Given the description of an element on the screen output the (x, y) to click on. 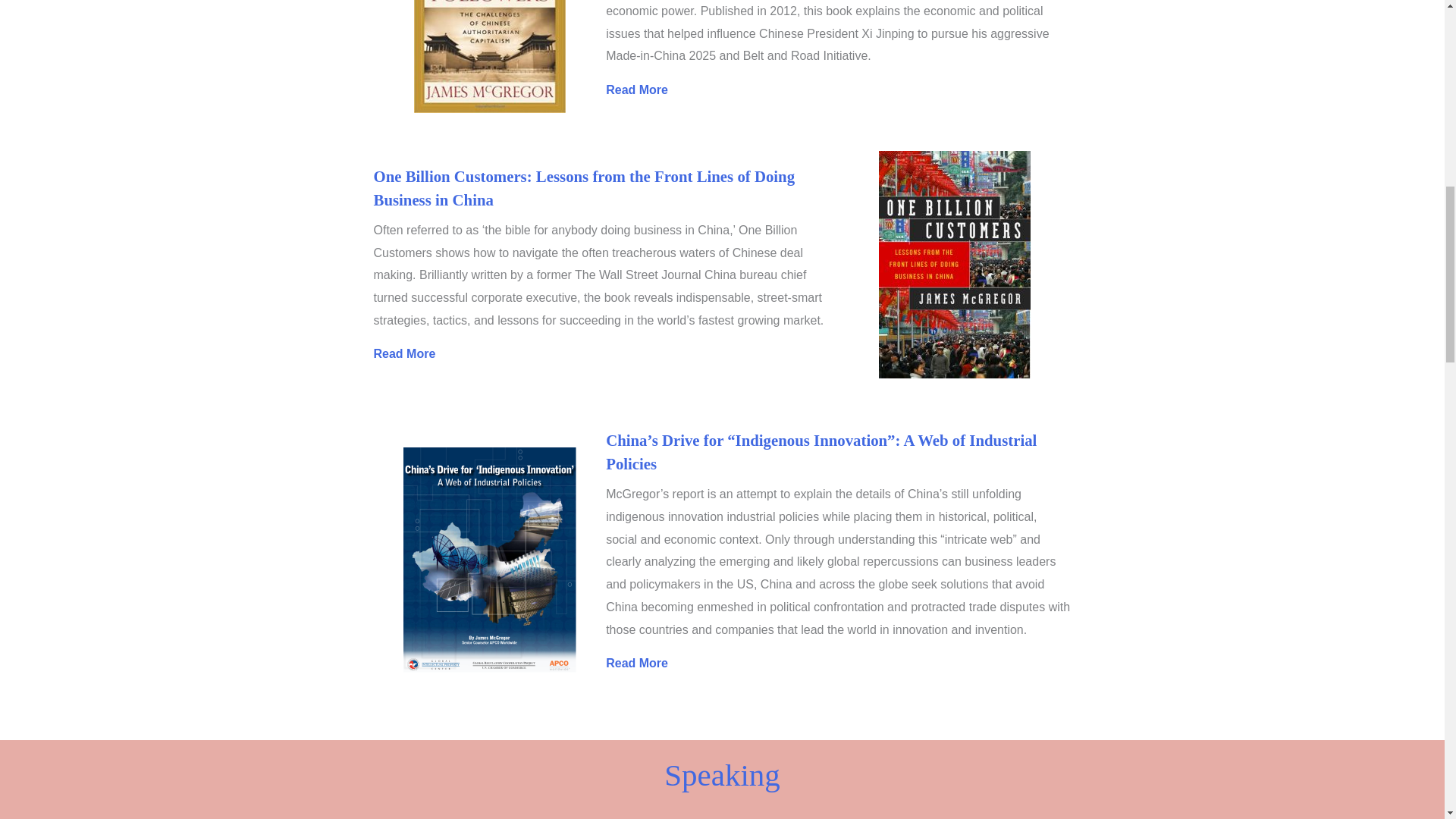
Read More (636, 89)
Read More (404, 353)
Read More (636, 662)
Speaking (721, 774)
